Given the description of an element on the screen output the (x, y) to click on. 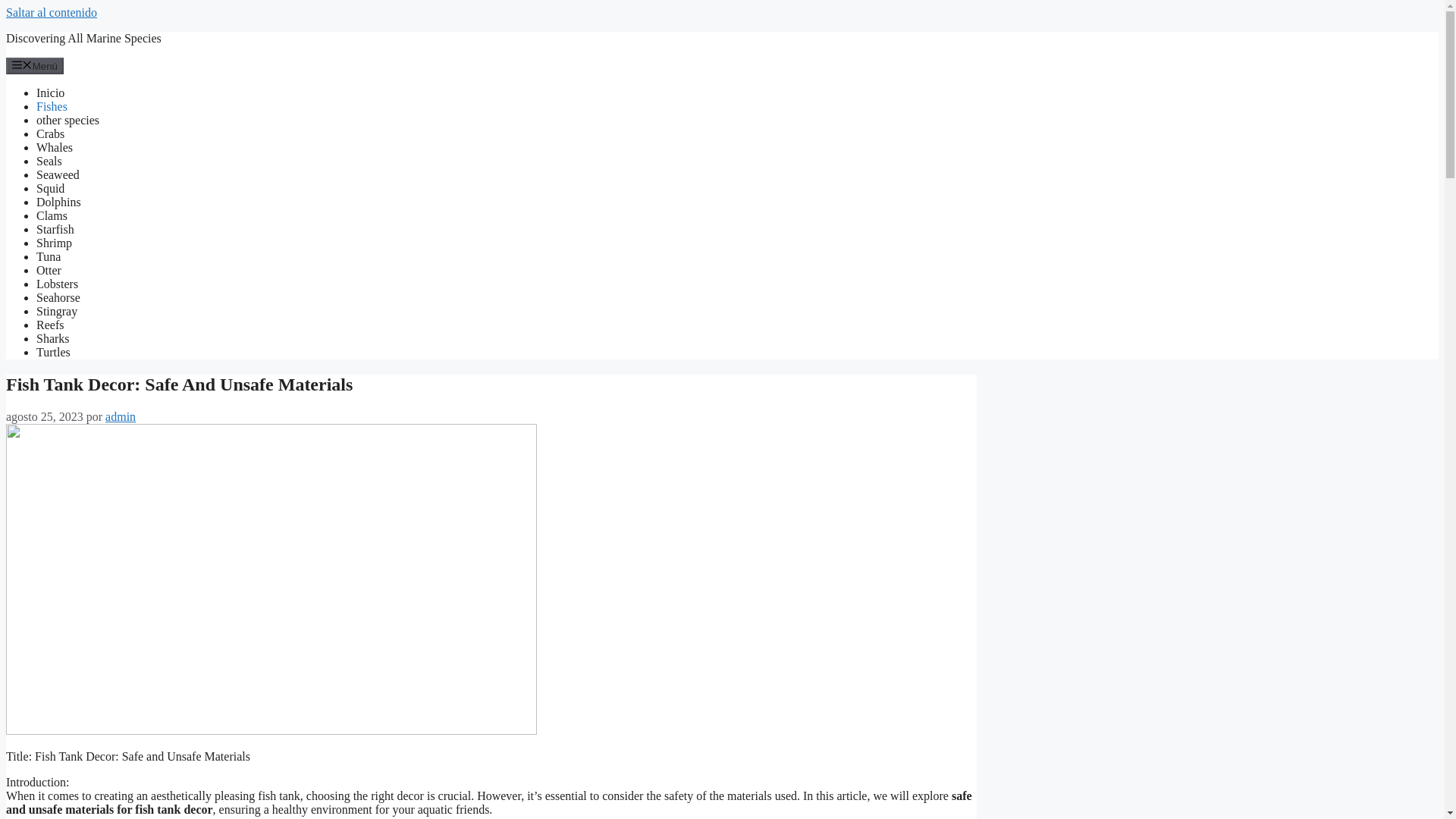
Otter (48, 269)
Inicio (50, 92)
Discovering All Marine Species (83, 38)
admin (119, 416)
Saltar al contenido (51, 11)
Tuna (48, 256)
Fishes (51, 106)
Starfish (55, 228)
Whales (54, 146)
Shrimp (53, 242)
Seaweed (58, 174)
Ver todas las entradas de admin (119, 416)
Dolphins (58, 201)
Saltar al contenido (51, 11)
Squid (50, 187)
